Given the description of an element on the screen output the (x, y) to click on. 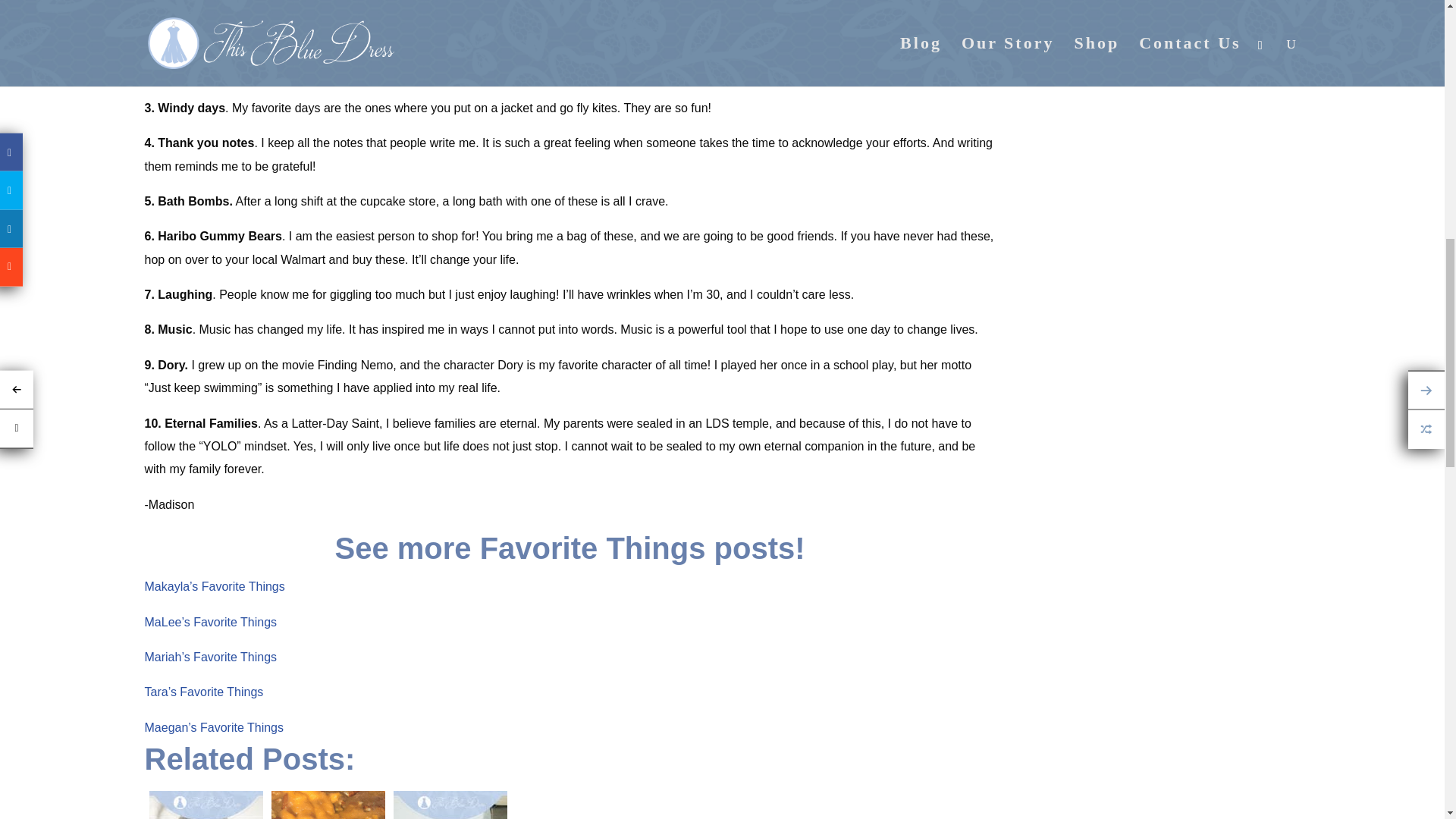
Candied Sweet Potatoes (328, 802)
The 10 Most Influential Books I've Ever Read (449, 802)
Custom Family Proclamations: A Review (205, 802)
